Given the description of an element on the screen output the (x, y) to click on. 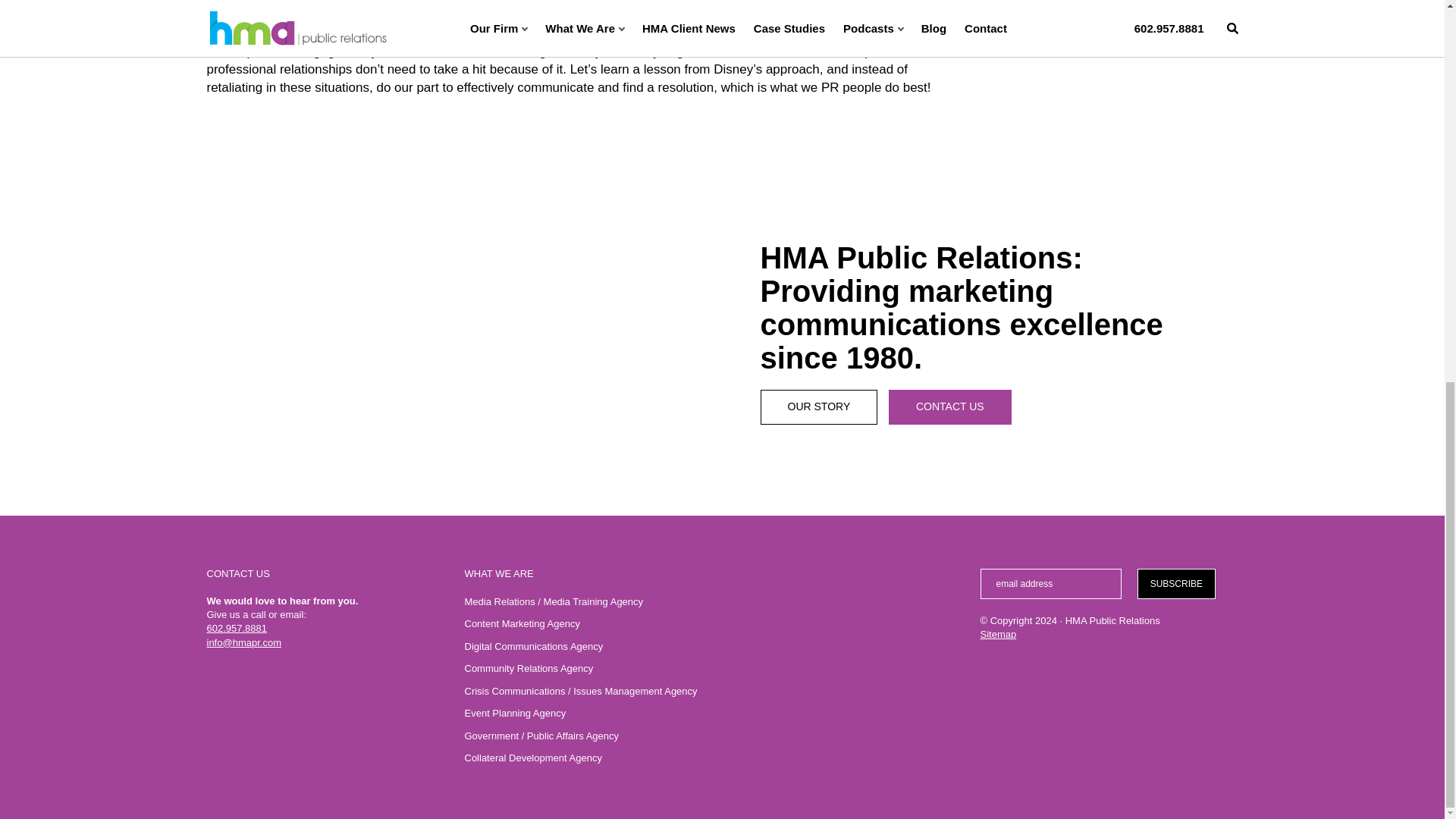
OUR STORY (818, 407)
Subscribe (1175, 583)
